Given the description of an element on the screen output the (x, y) to click on. 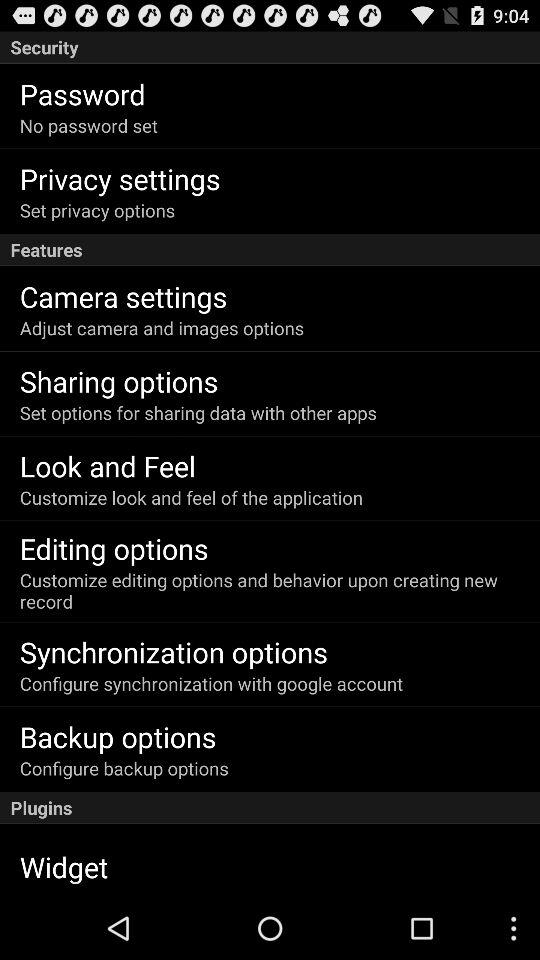
press the features app (270, 250)
